Given the description of an element on the screen output the (x, y) to click on. 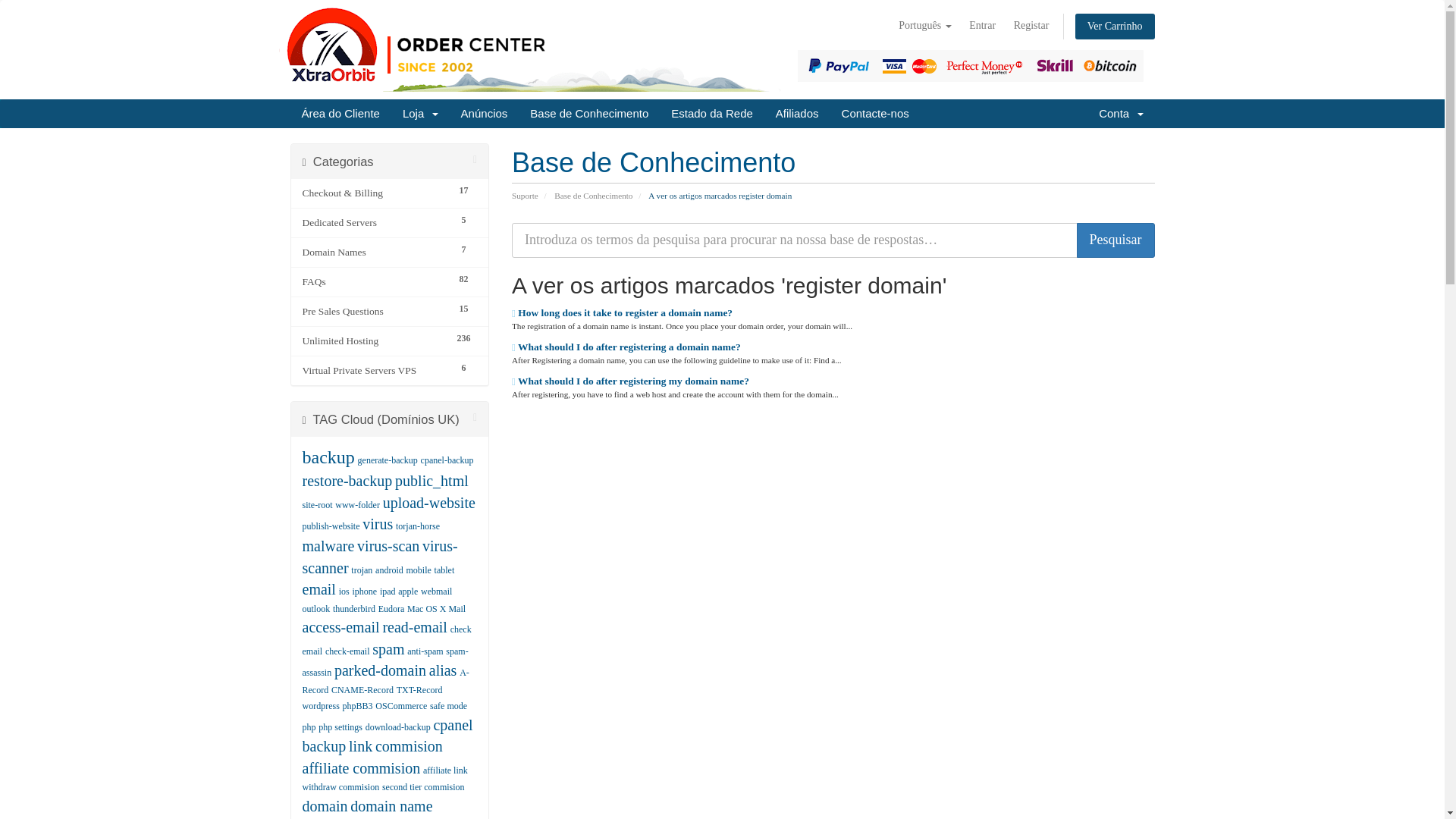
FAQs (375, 281)
Loja   (420, 113)
Domain Names (375, 252)
Ver Carrinho (1114, 26)
Pesquisar (1115, 239)
Dedicated Servers (375, 222)
Unlimited Hosting (375, 341)
Pre Sales Questions (375, 311)
Entrar (981, 25)
Virtual Private Servers VPS (375, 370)
Registar (1031, 25)
